Given the description of an element on the screen output the (x, y) to click on. 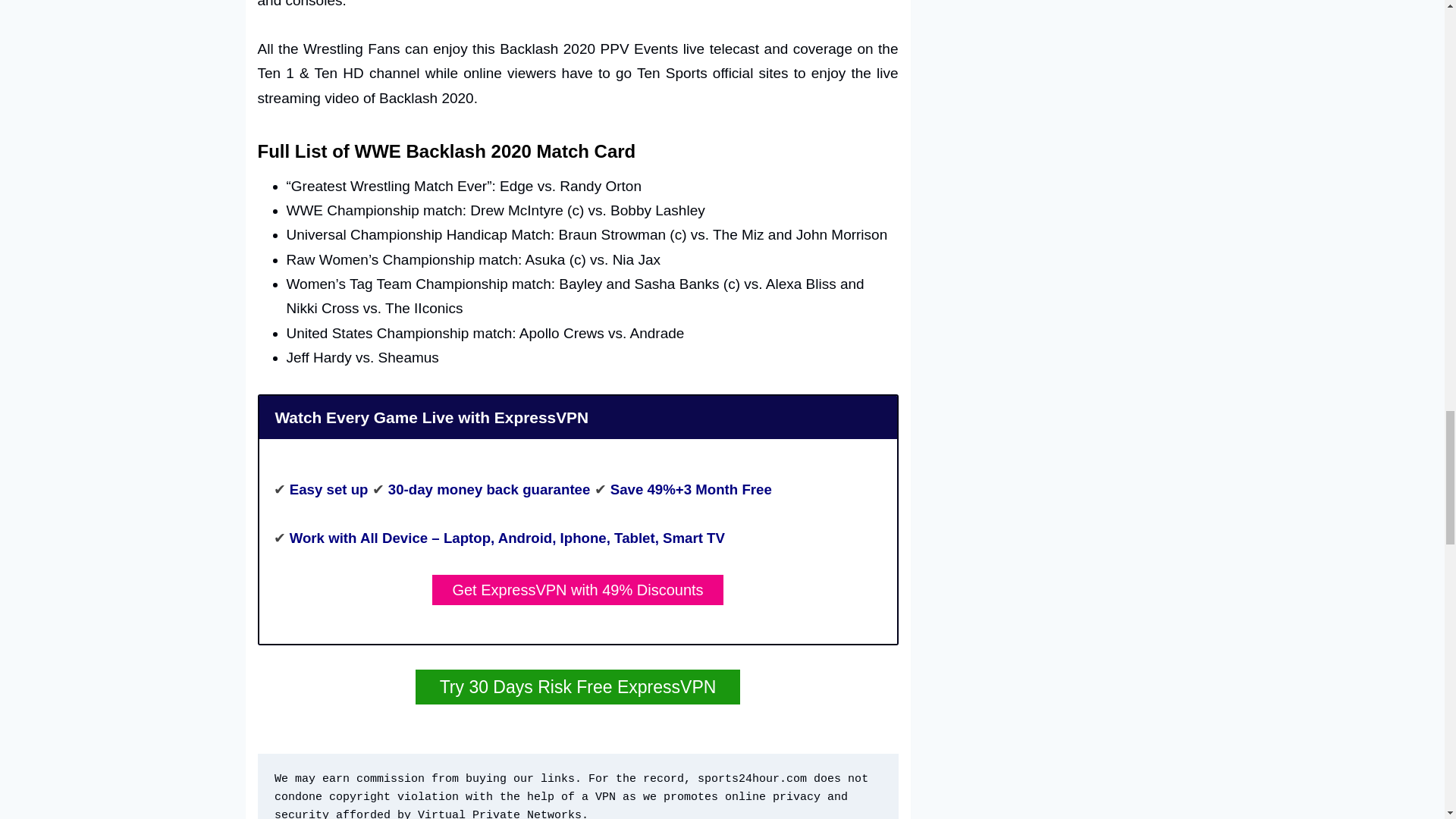
Try 30 Days Risk Free ExpressVPN (577, 686)
ExpressVPN Order (577, 589)
ExpressVPN Trial (577, 686)
